Given the description of an element on the screen output the (x, y) to click on. 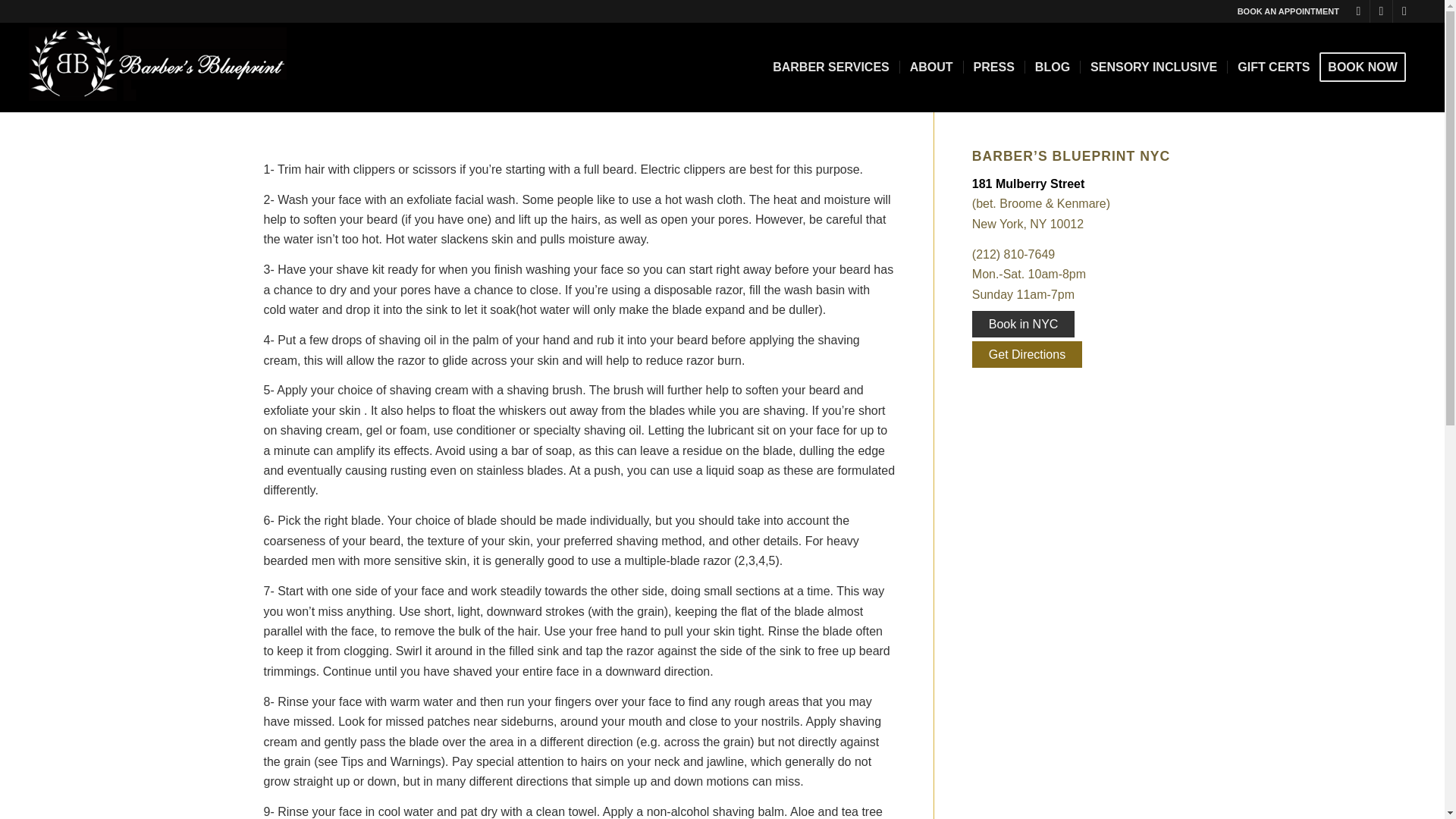
BOOK NOW (1367, 67)
NYC Barber (830, 67)
Facebook (1380, 11)
Twitter (1404, 11)
BARBER SERVICES (830, 67)
SENSORY INCLUSIVE (1153, 67)
PRESS (993, 67)
GIFT CERTS (1273, 67)
ABOUT (930, 67)
BOOK AN APPOINTMENT (1288, 11)
Instagram (1359, 11)
BLOG (1052, 67)
Book in NYC (1023, 324)
Get Directions (1026, 354)
